Given the description of an element on the screen output the (x, y) to click on. 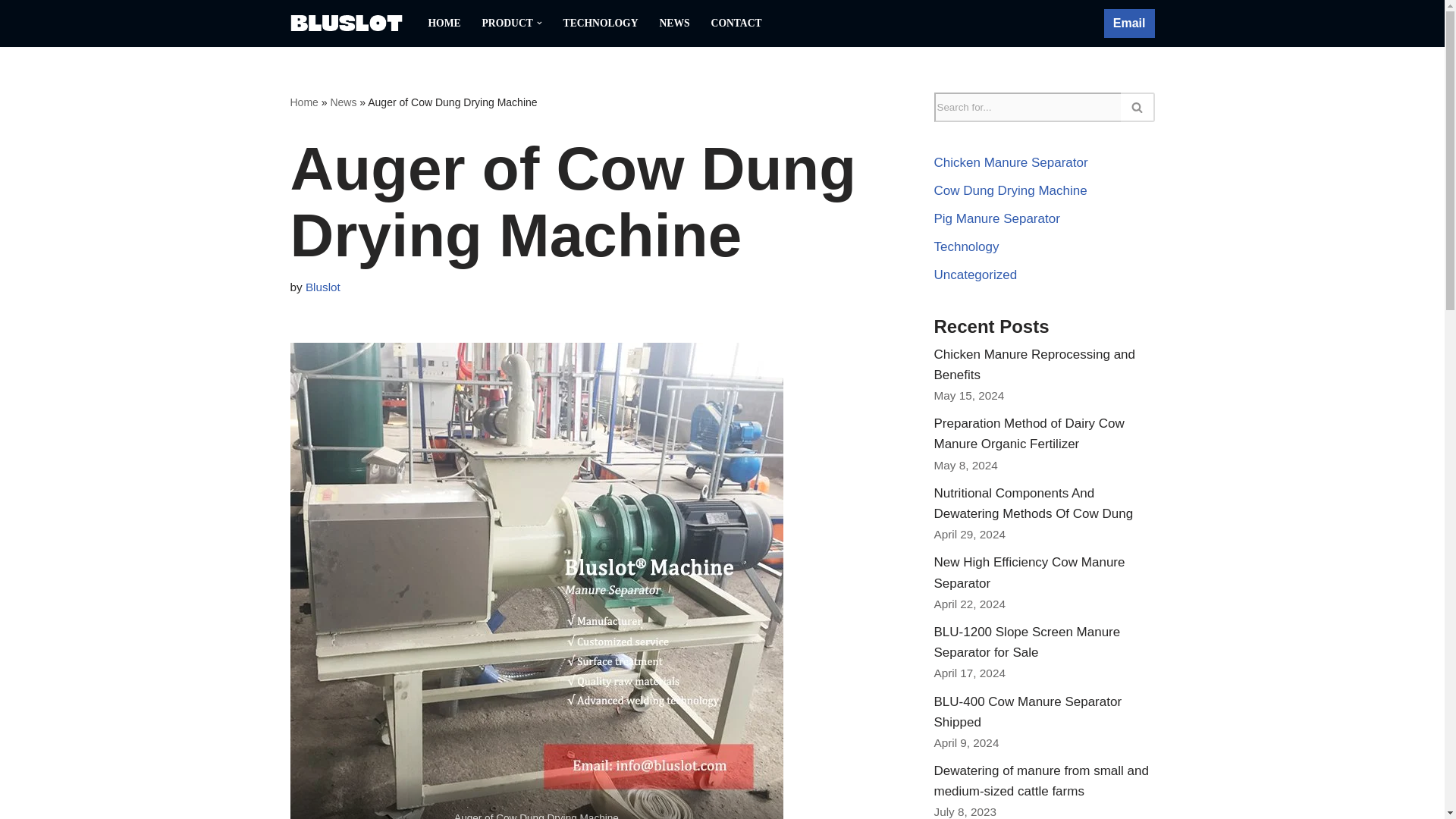
PRODUCT (506, 22)
Email (1128, 23)
TECHNOLOGY (601, 22)
Skip to content (11, 31)
NEWS (674, 22)
CONTACT (736, 22)
HOME (444, 22)
Posts by Bluslot (322, 286)
